Given the description of an element on the screen output the (x, y) to click on. 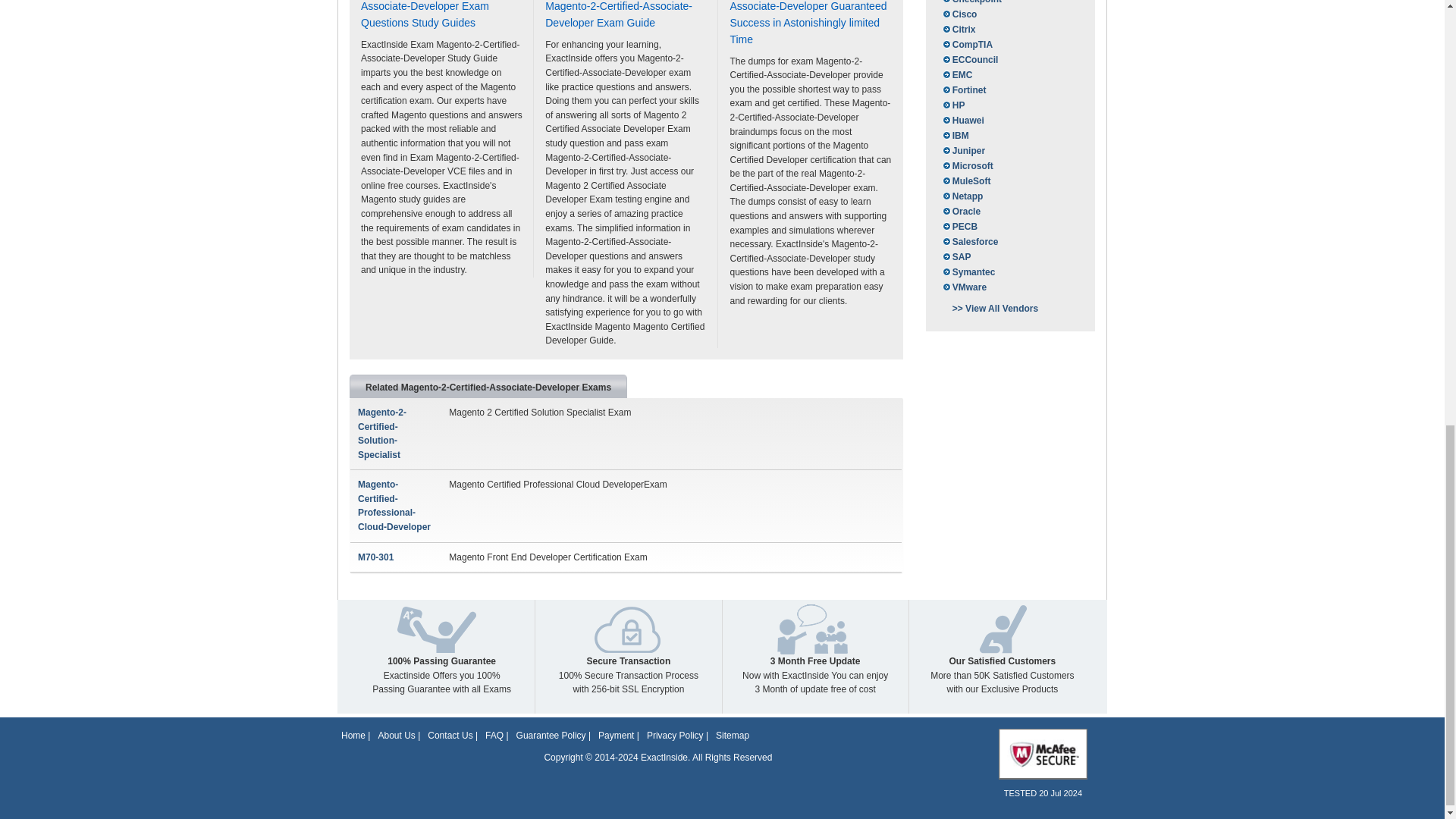
Magento-Certified-Professional-Cloud-Developer (394, 505)
Checkpoint (970, 3)
Netapp (962, 196)
MuleSoft (965, 181)
Citrix (957, 29)
Checkpoint (970, 3)
Magento-2-Certified-Solution-Specialist (382, 433)
Fortinet (963, 89)
Citrix (957, 29)
Juniper (962, 150)
ECCouncil (969, 59)
Salesforce (969, 241)
CompTIA (966, 44)
EMC (956, 74)
ECCouncil (969, 59)
